Given the description of an element on the screen output the (x, y) to click on. 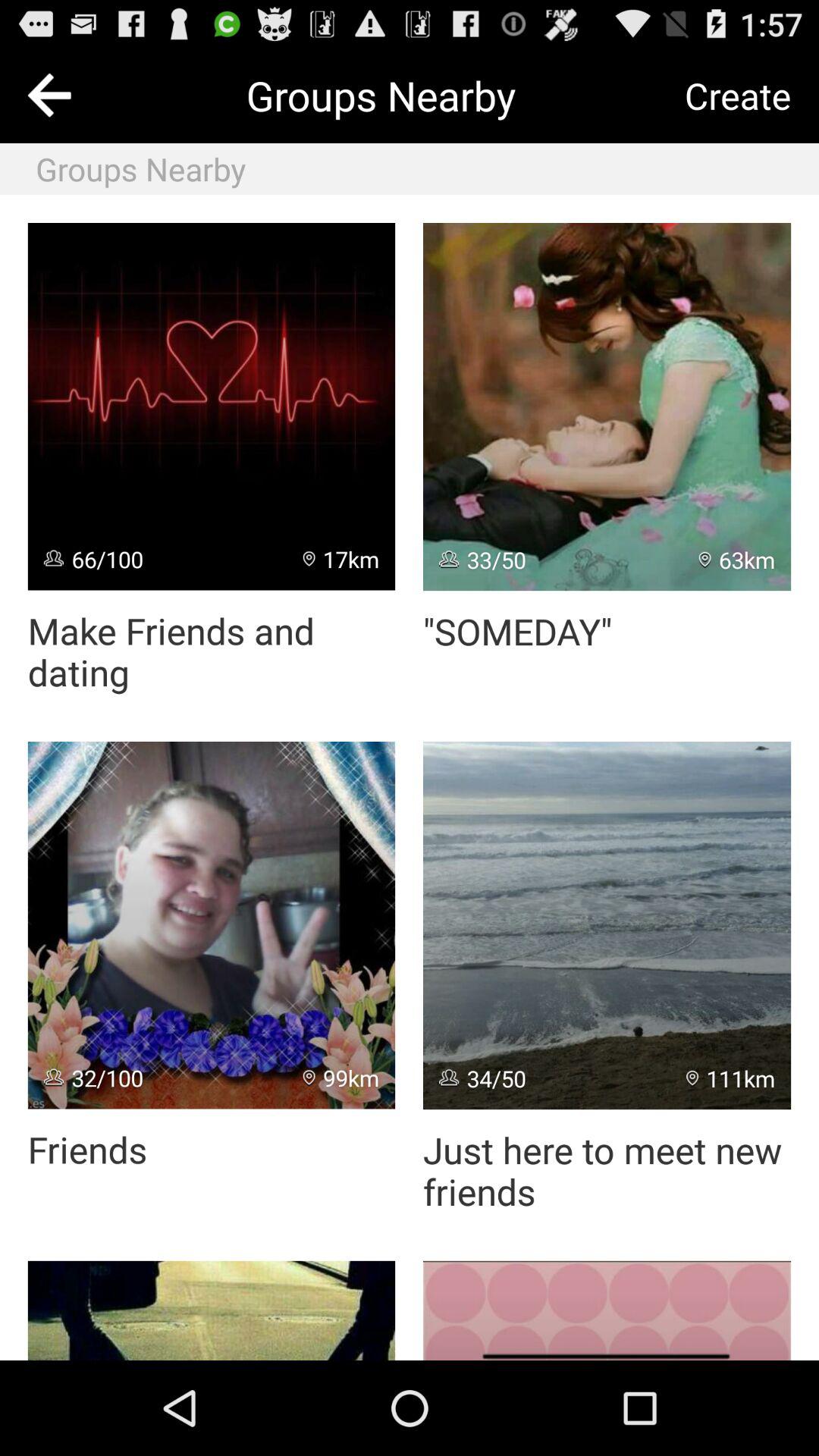
select just here to icon (607, 1171)
